Given the description of an element on the screen output the (x, y) to click on. 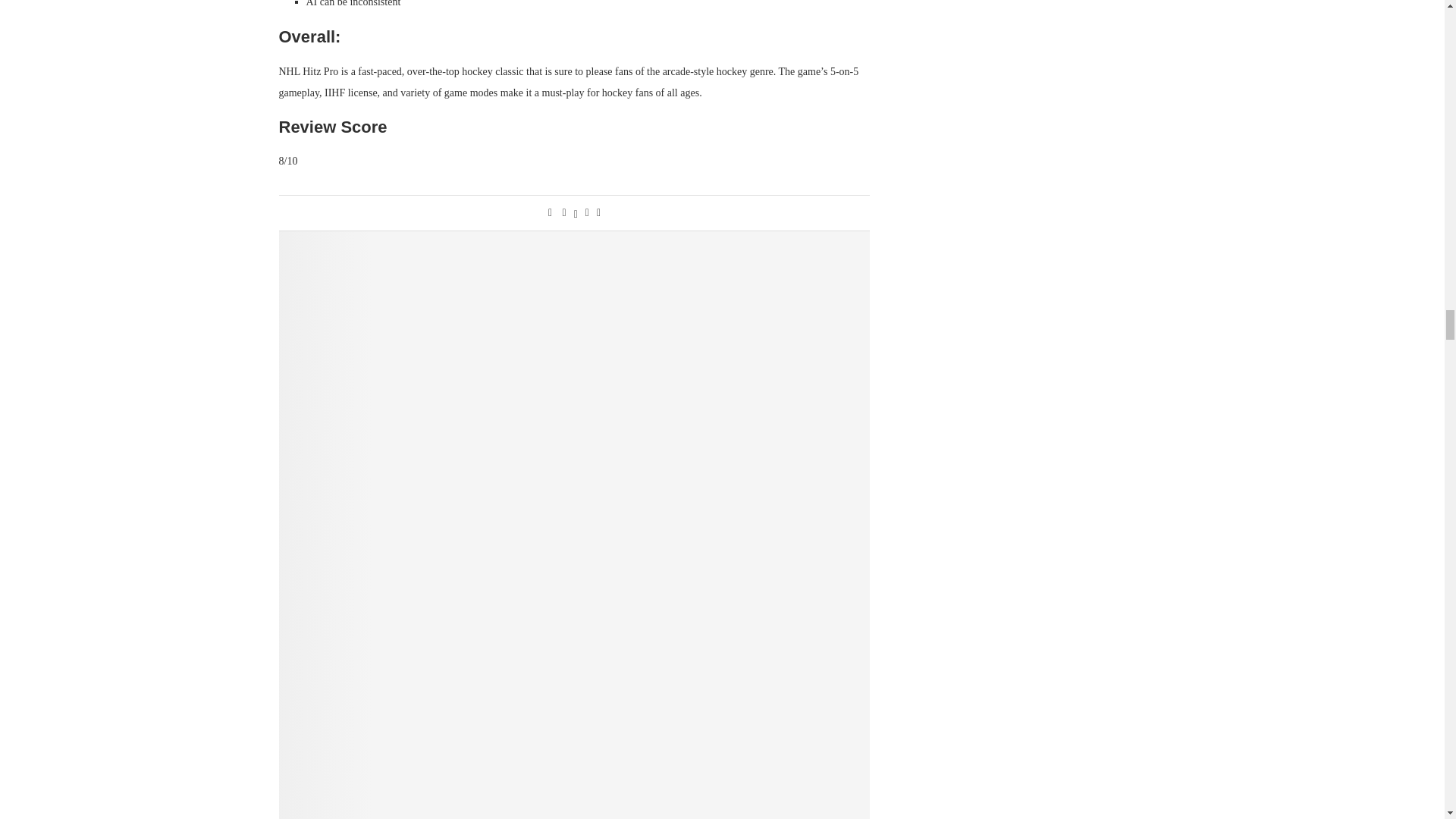
Like (549, 213)
